Given the description of an element on the screen output the (x, y) to click on. 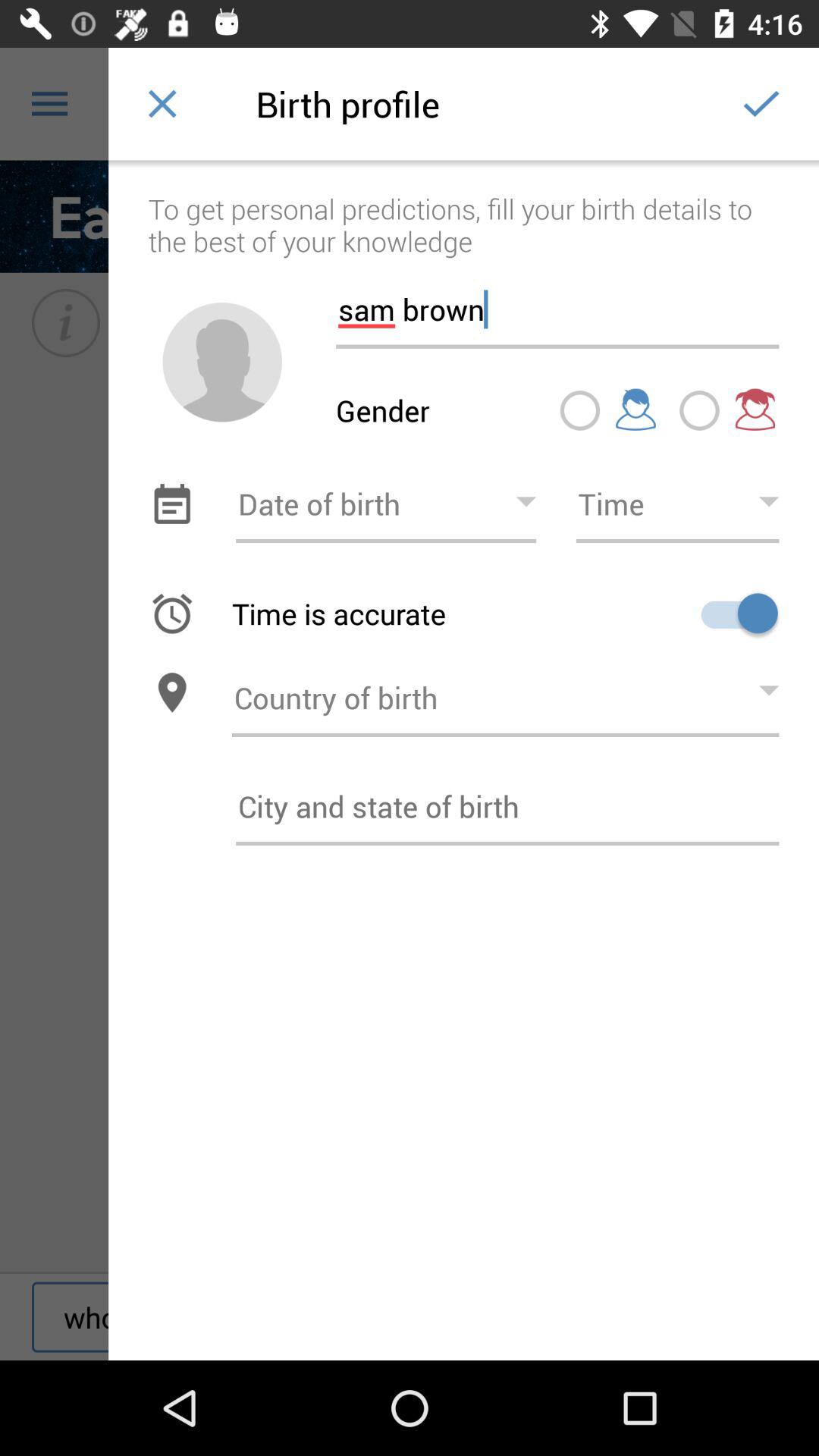
switch location option (172, 692)
